Given the description of an element on the screen output the (x, y) to click on. 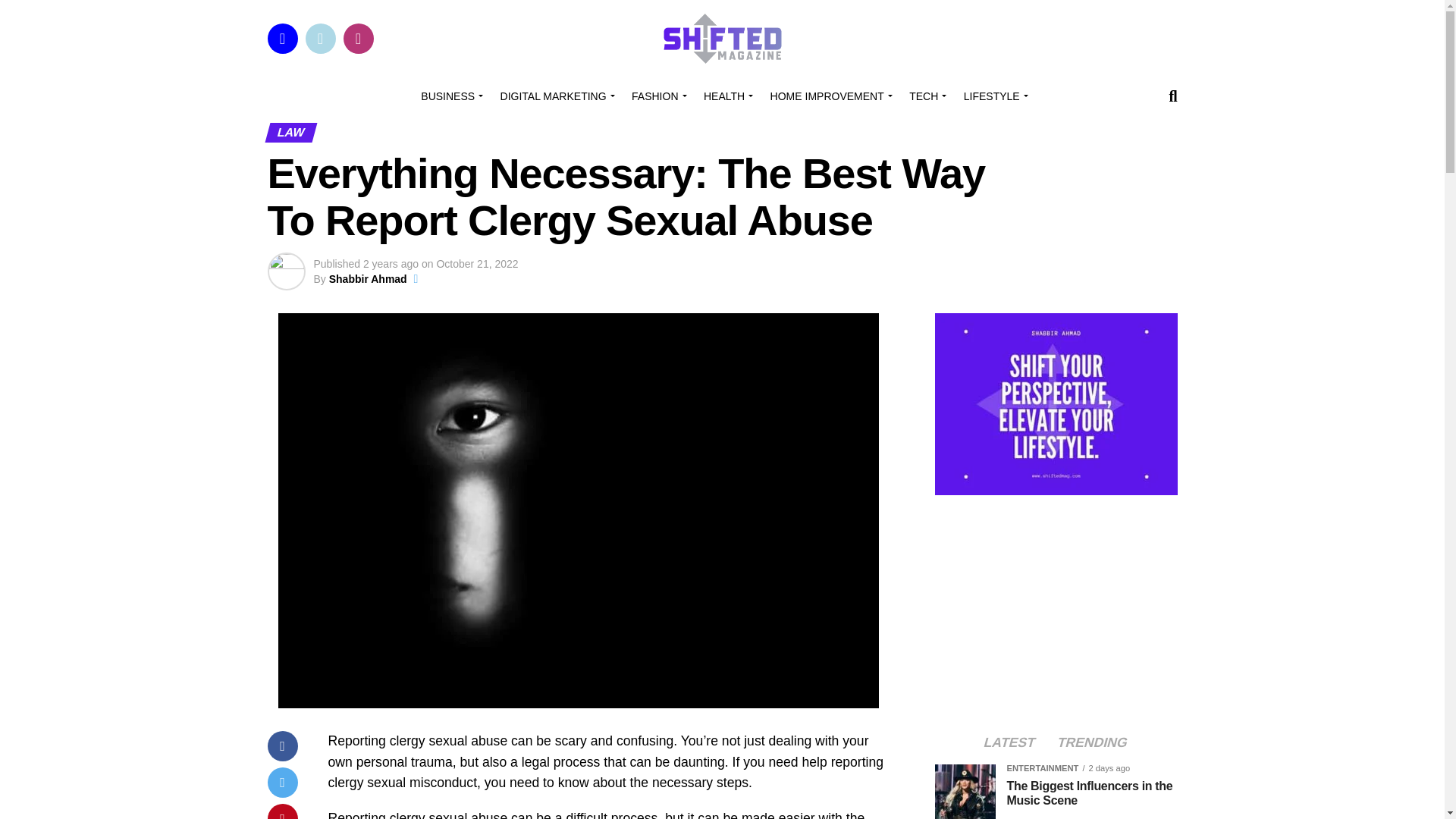
BUSINESS (449, 95)
HEALTH (725, 95)
Posts by Shabbir Ahmad (368, 278)
DIGITAL MARKETING (556, 95)
FASHION (656, 95)
HOME IMPROVEMENT (828, 95)
TECH (924, 95)
